Given the description of an element on the screen output the (x, y) to click on. 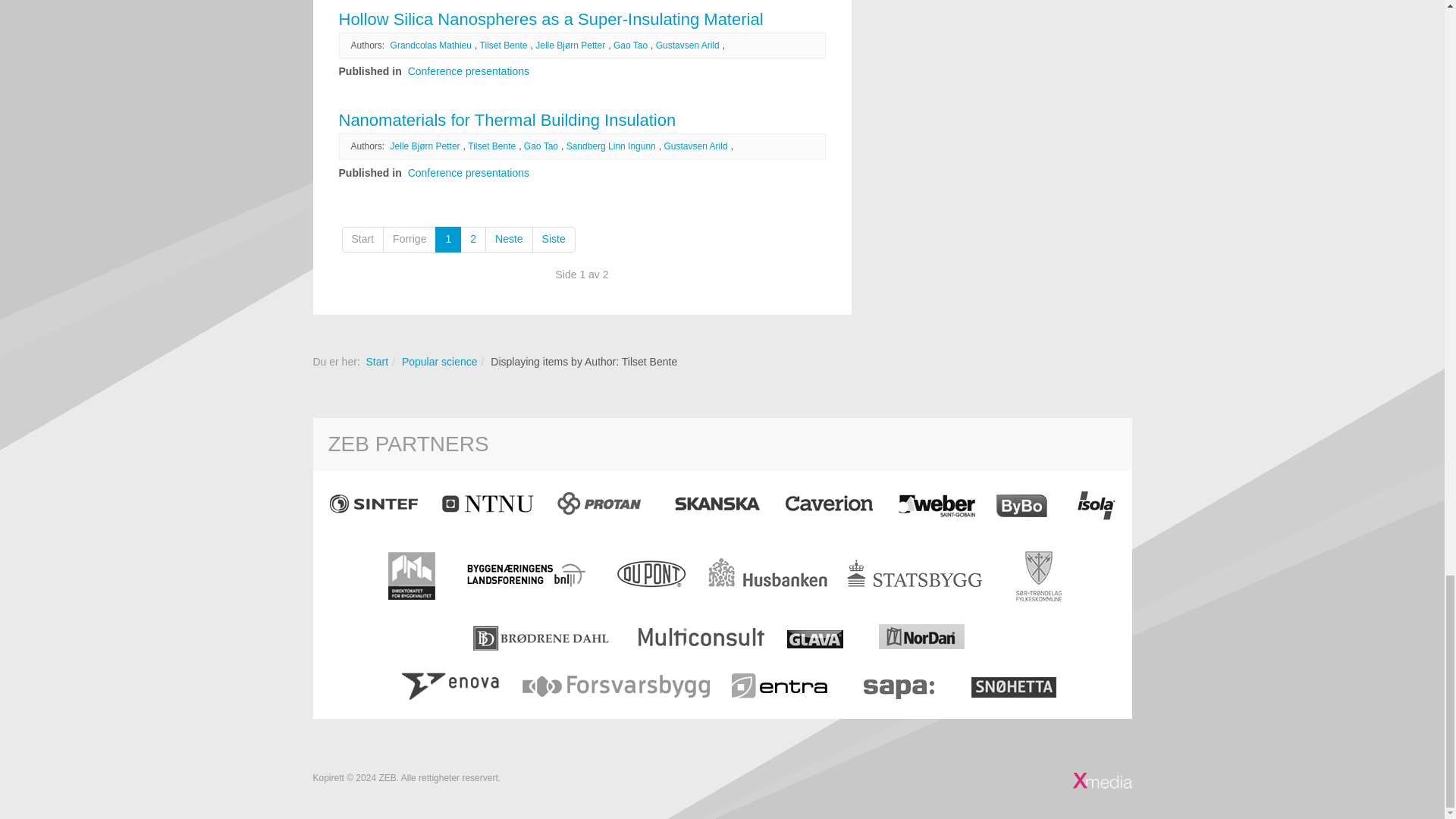
Siste (553, 239)
Neste (508, 239)
2 (473, 239)
